Given the description of an element on the screen output the (x, y) to click on. 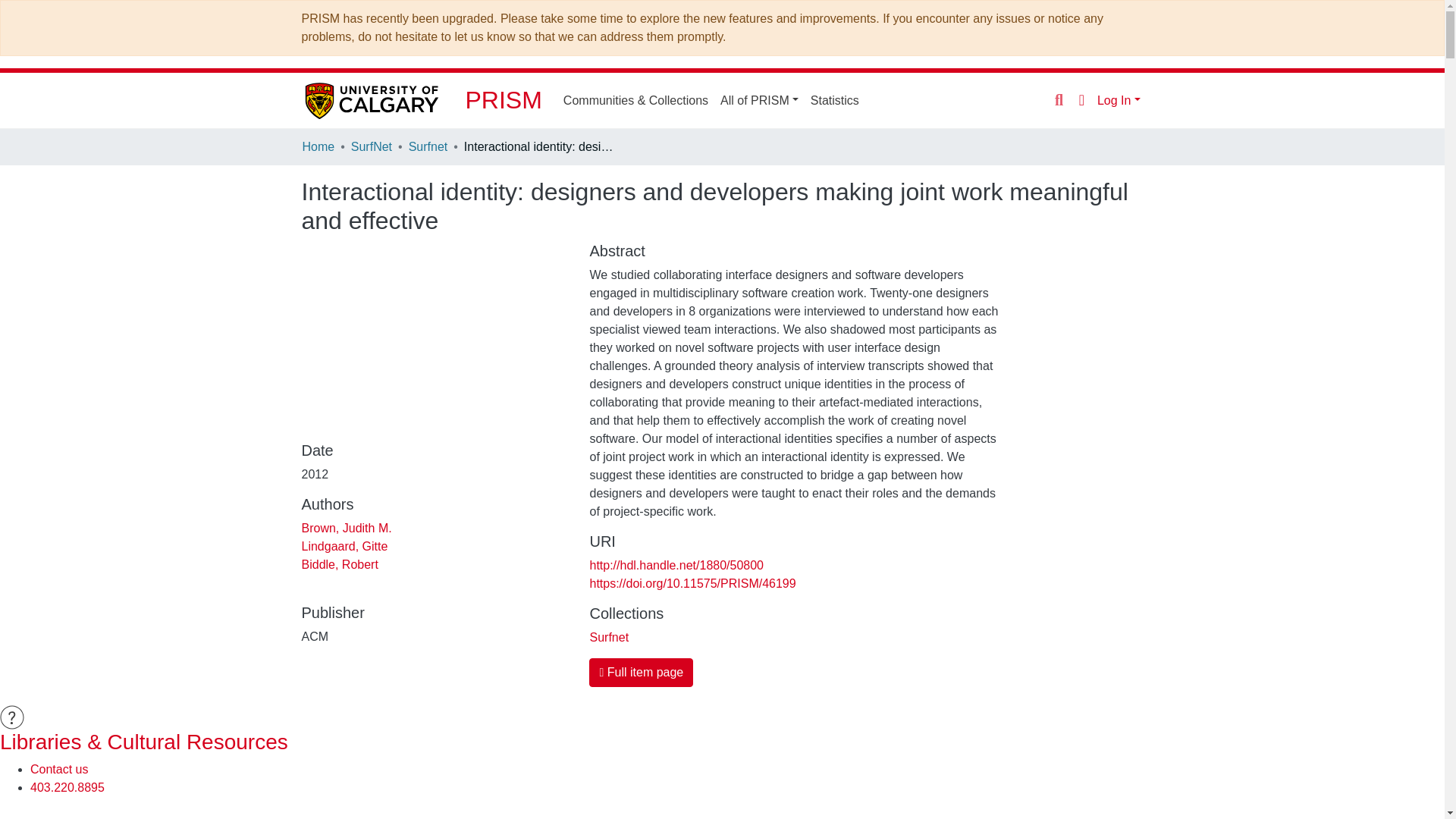
Full item page (641, 672)
Statistics (834, 100)
Surfnet (608, 636)
Biddle, Robert (339, 563)
Contact us (58, 768)
Statistics (834, 100)
Search (1058, 100)
SurfNet (370, 147)
Language switch (1081, 99)
Brown, Judith M. (346, 527)
Home (317, 147)
All of PRISM (759, 100)
Log In (1118, 100)
PRISM (503, 99)
Surfnet (428, 147)
